Given the description of an element on the screen output the (x, y) to click on. 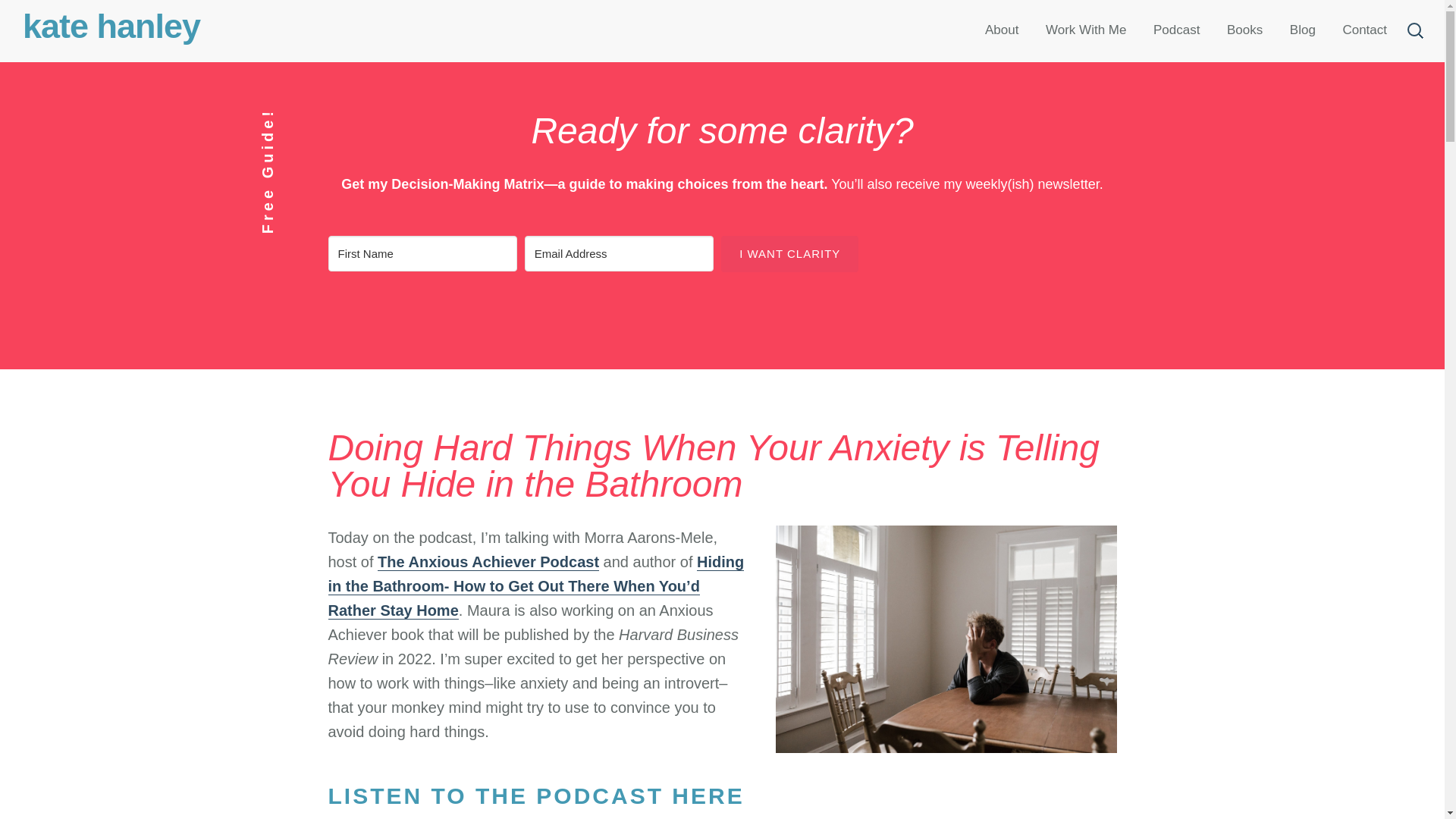
I WANT CLARITY (789, 253)
Blog (1302, 29)
Contact (1363, 29)
The Anxious Achiever Podcast (487, 561)
Search (49, 21)
Books (1244, 29)
Podcast (1176, 29)
Work With Me (1085, 29)
About (1001, 29)
